Given the description of an element on the screen output the (x, y) to click on. 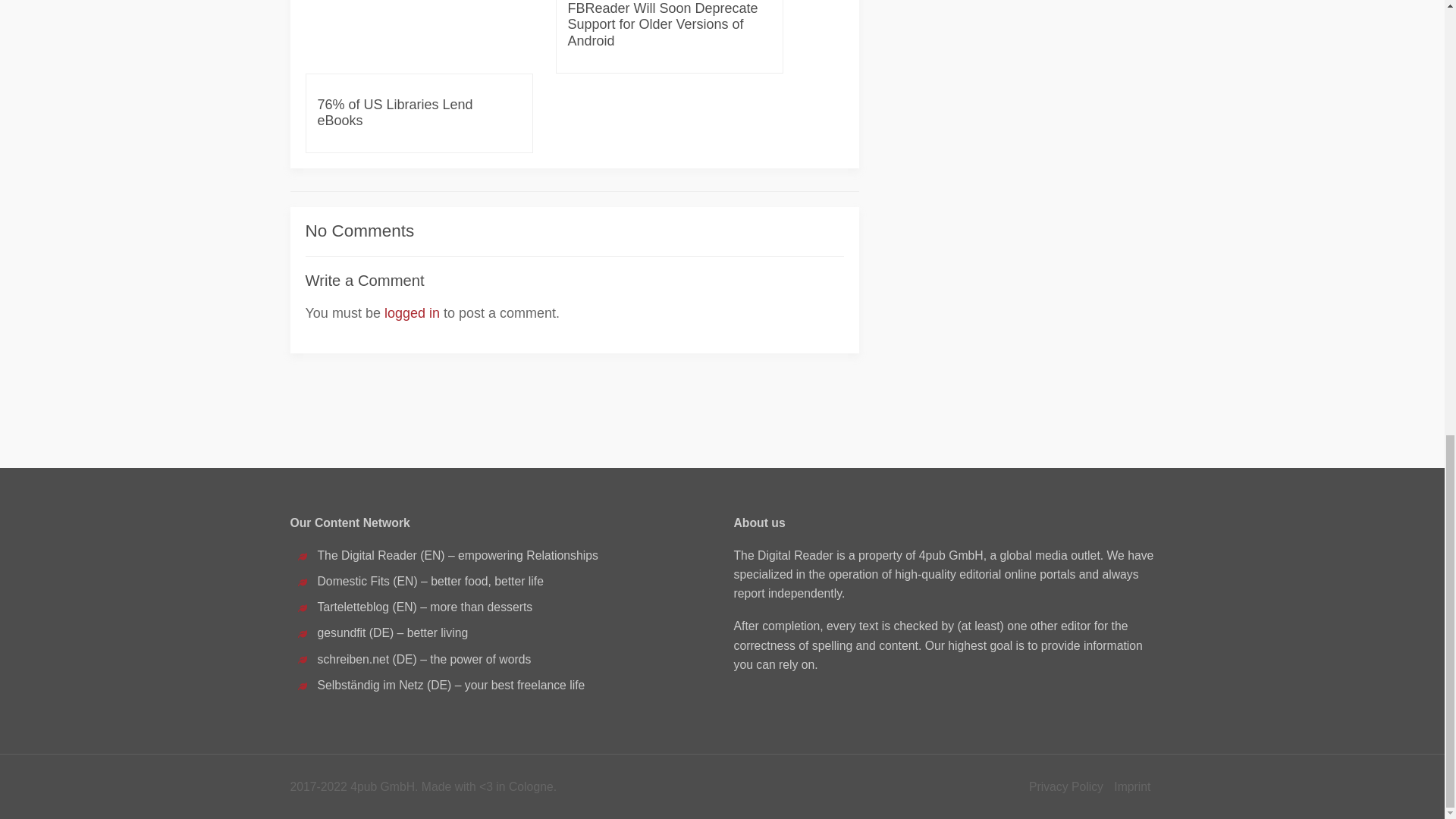
logged in (411, 313)
